Given the description of an element on the screen output the (x, y) to click on. 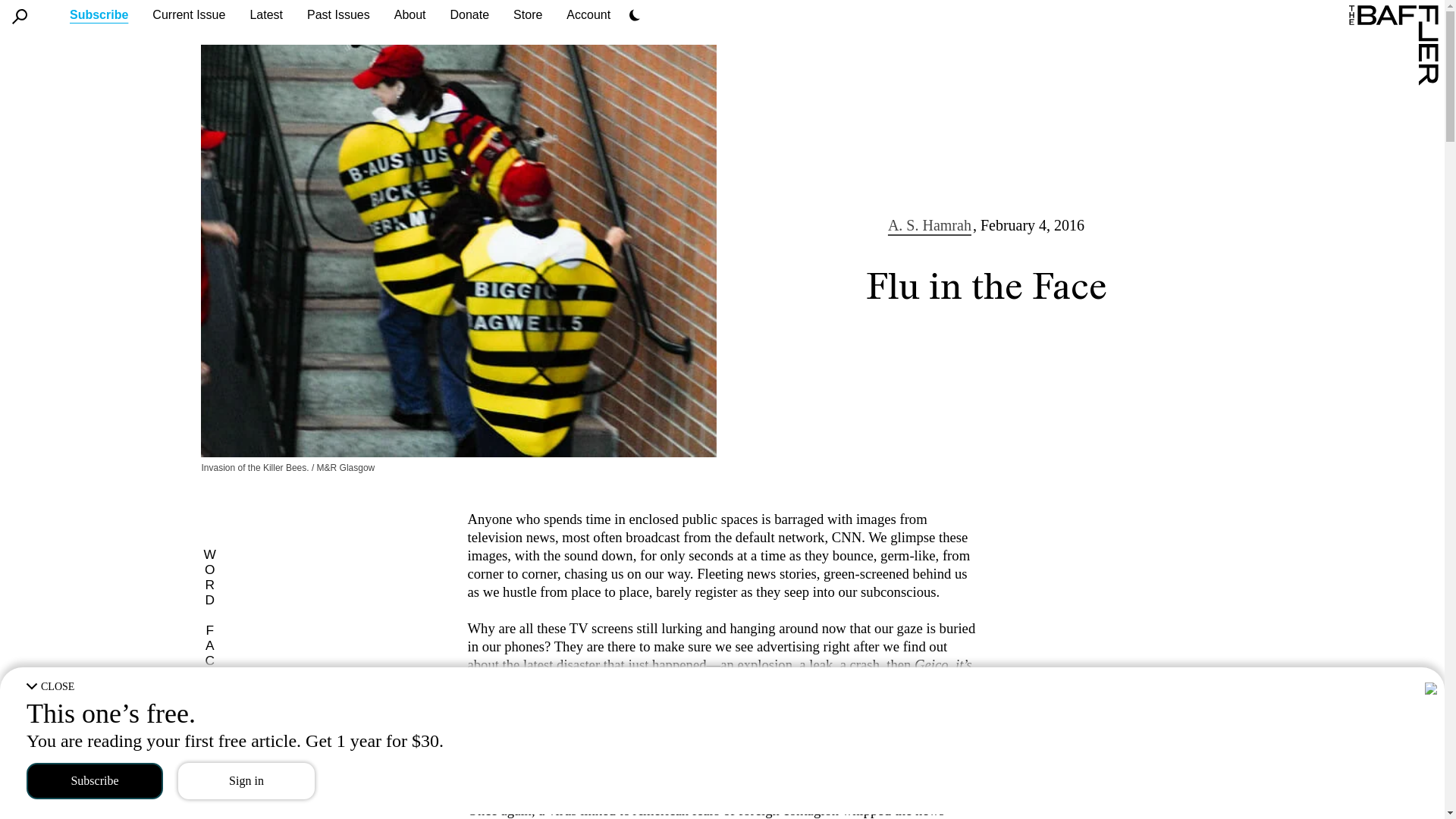
About (410, 14)
Dark Mode Settings (634, 15)
Subscribe (98, 14)
Latest (265, 14)
A. S. Hamrah (929, 225)
Current Issue (188, 14)
Search (19, 16)
Account (588, 14)
Store (527, 14)
Donate (469, 14)
Past Issues (338, 14)
